Given the description of an element on the screen output the (x, y) to click on. 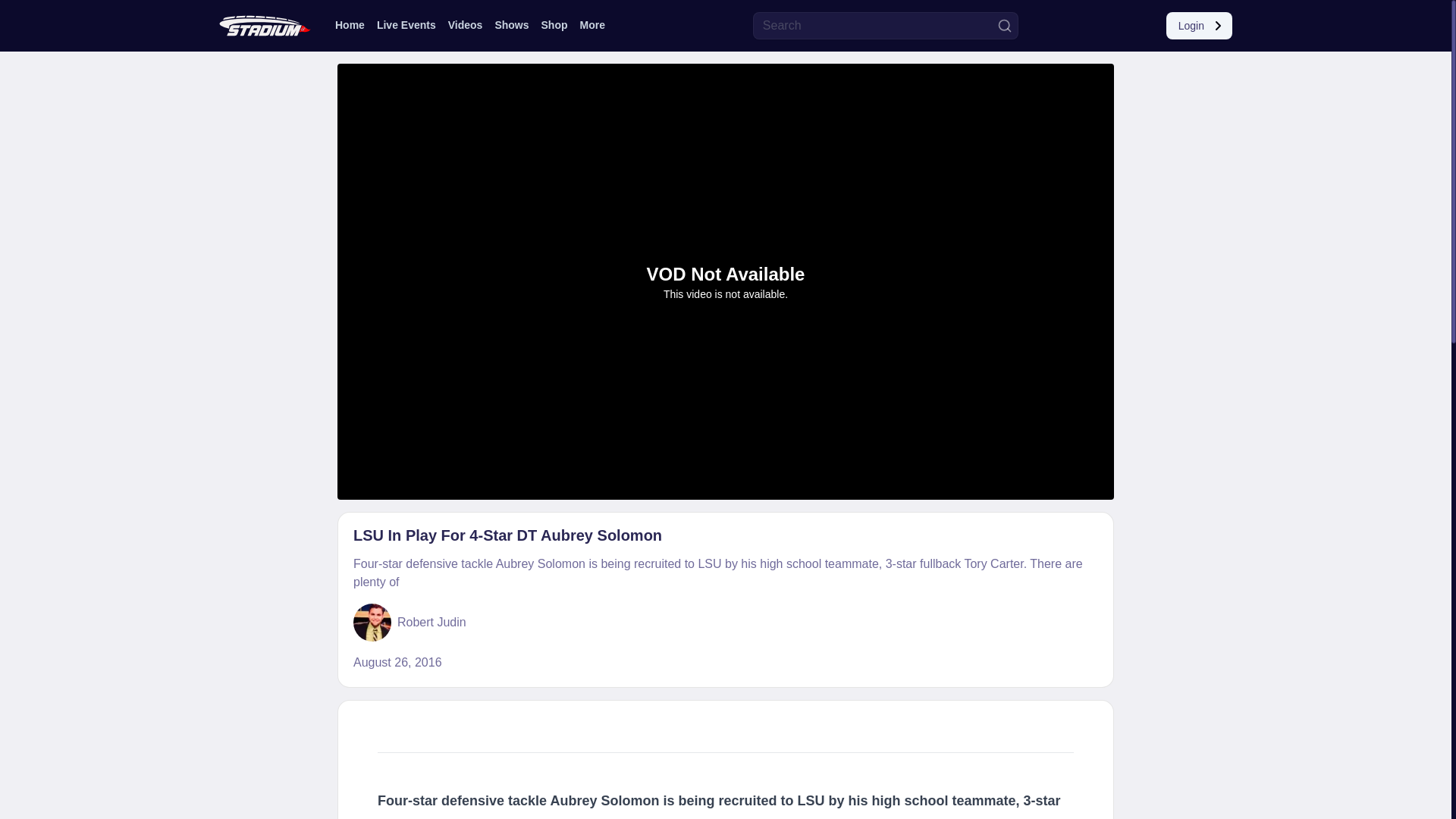
Home (349, 24)
Login (1198, 25)
Shows (511, 24)
Live Events (406, 24)
Shop (554, 24)
